Given the description of an element on the screen output the (x, y) to click on. 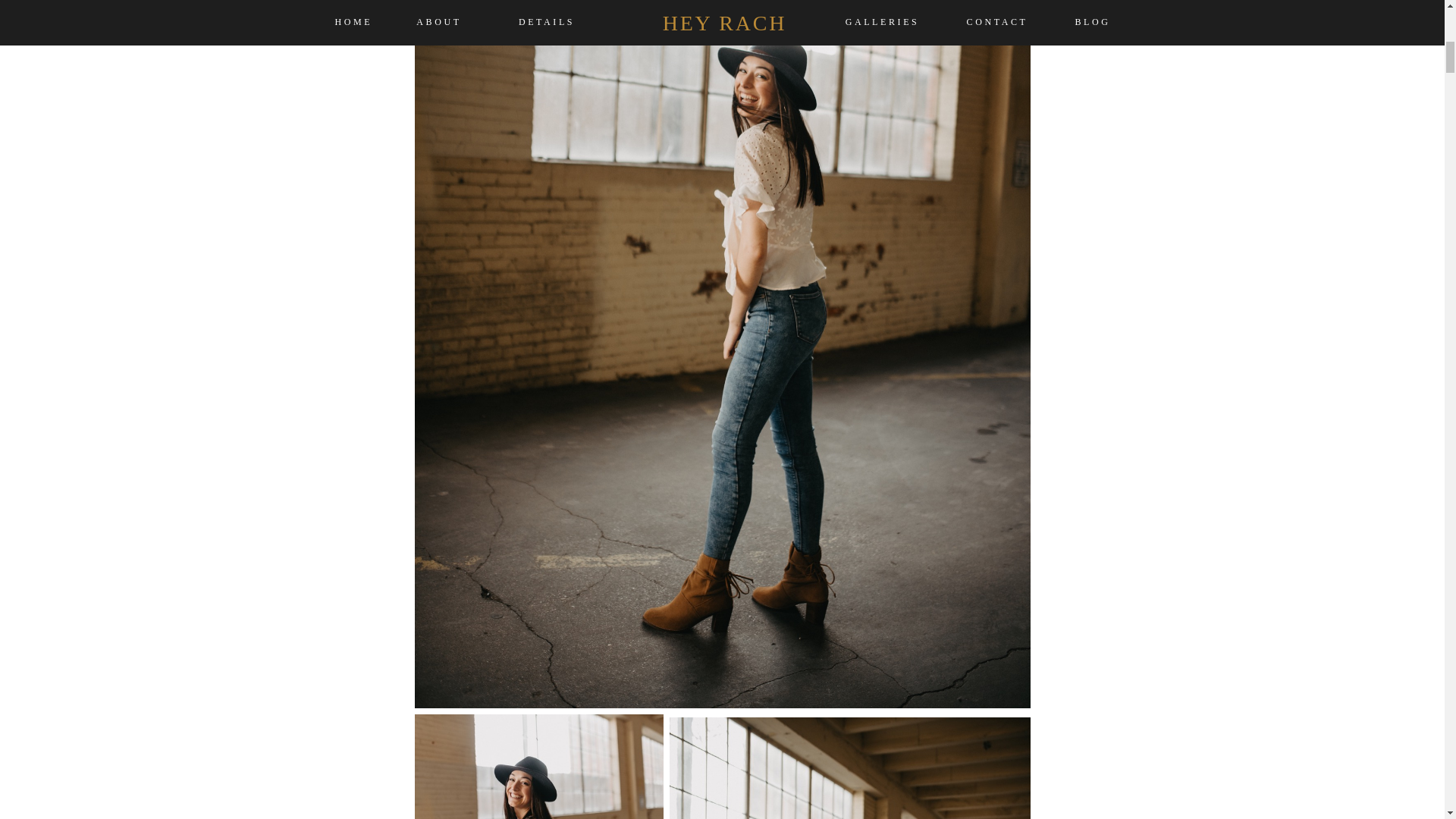
baylie-2-4 (538, 766)
baylie-2862 (849, 766)
